Given the description of an element on the screen output the (x, y) to click on. 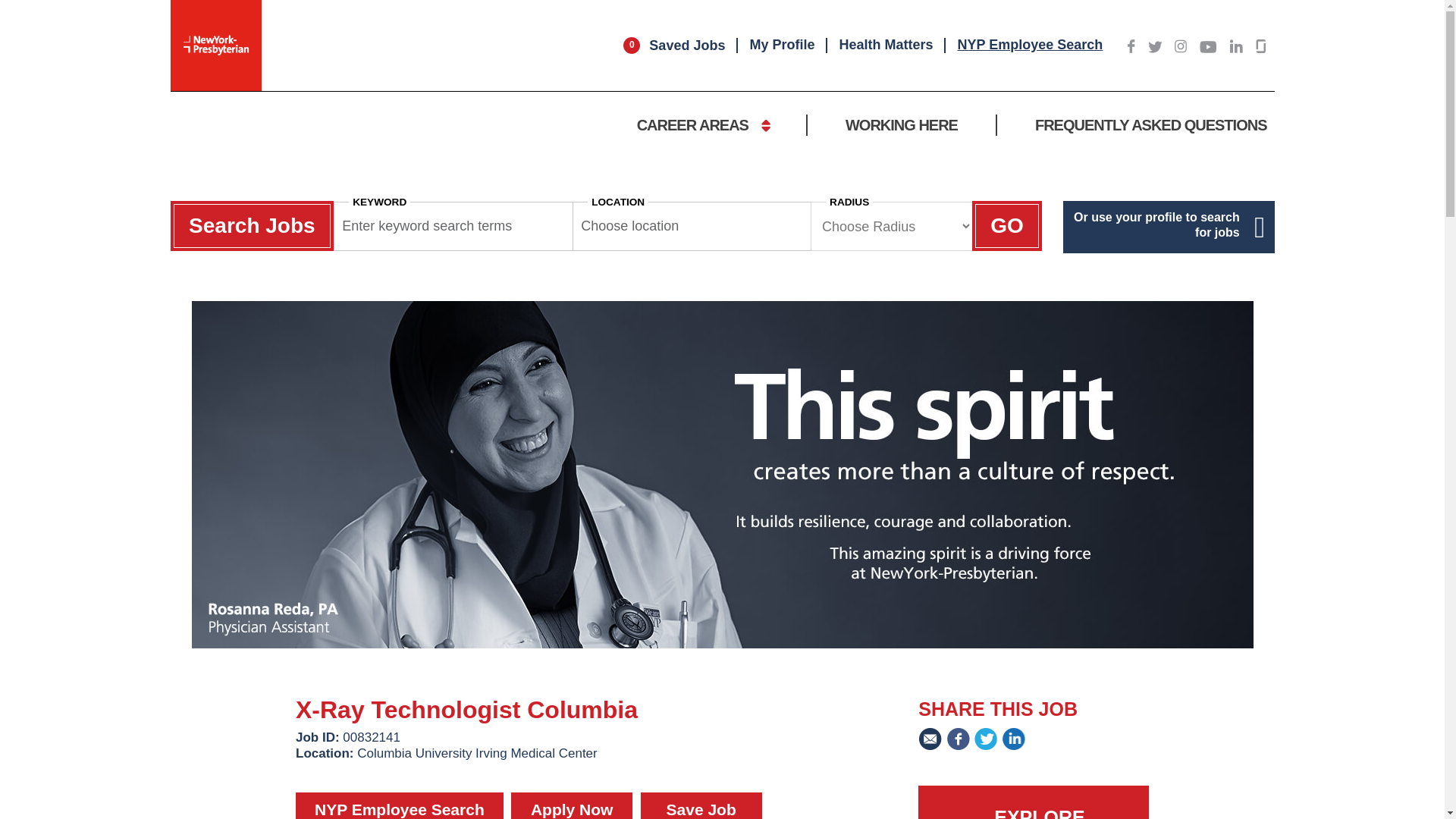
My Profile (781, 44)
LinkedIn (1235, 46)
YouTube (1208, 46)
Health Matters (885, 44)
0 Saved Jobs (673, 45)
CAREER AREAS (702, 124)
Instagram (1180, 46)
X (1154, 46)
NYP Employee Search (1028, 44)
Home (215, 45)
